Given the description of an element on the screen output the (x, y) to click on. 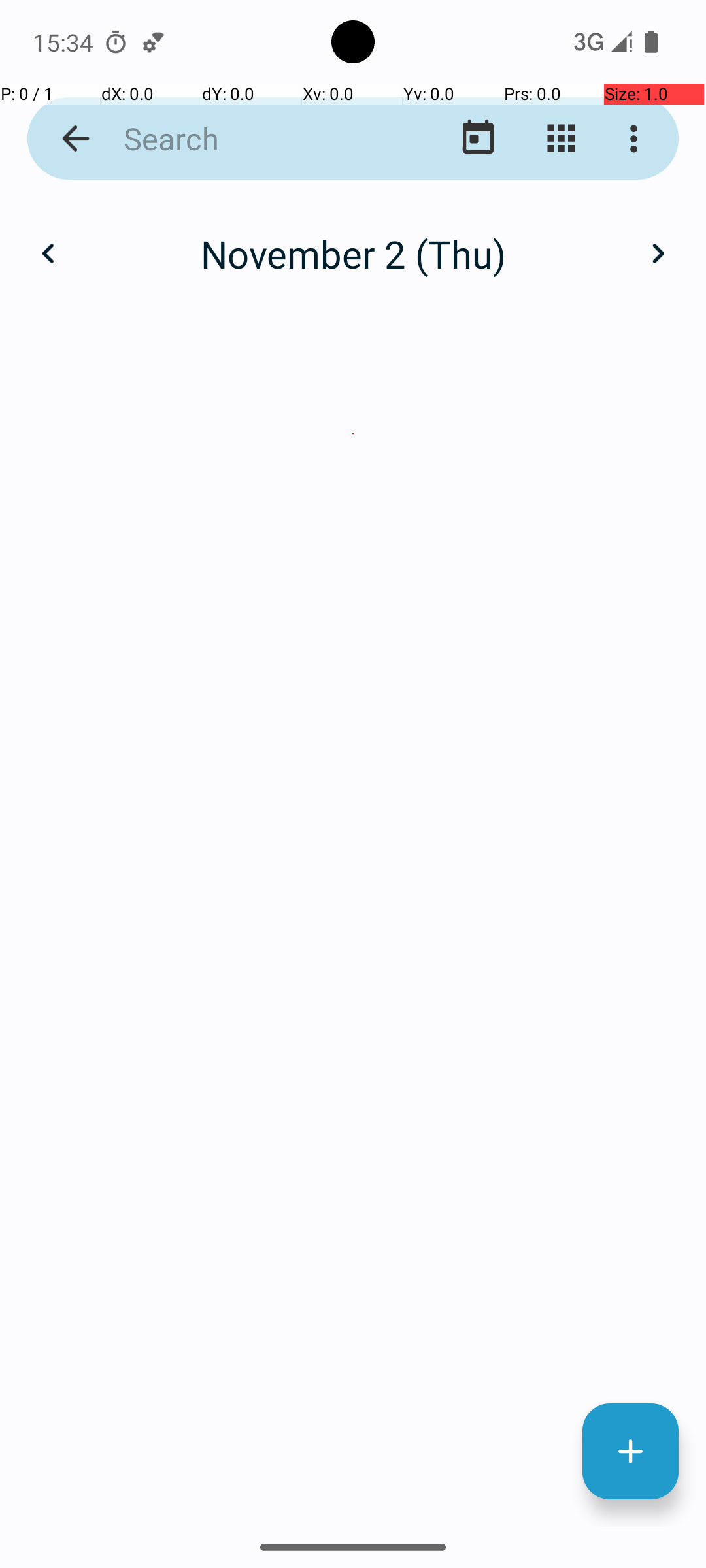
November 2 (Thu) Element type: android.widget.TextView (352, 253)
